Given the description of an element on the screen output the (x, y) to click on. 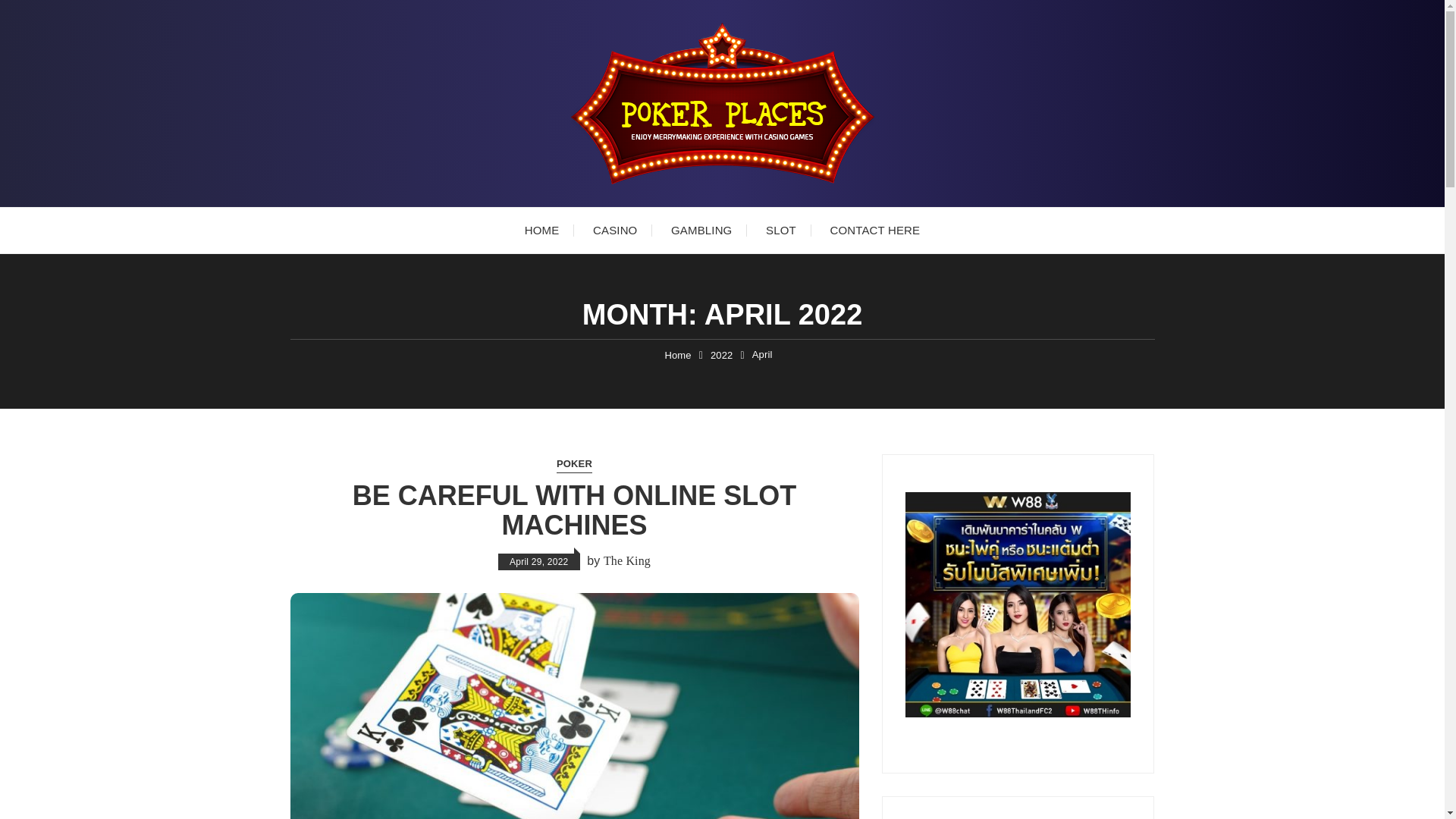
April 29, 2022 (538, 561)
April (762, 354)
GAMBLING (701, 230)
HOME (542, 230)
POKER (574, 464)
BE CAREFUL WITH ONLINE SLOT MACHINES (574, 510)
CONTACT HERE (873, 230)
The King (627, 561)
2022 (721, 355)
Home (676, 355)
SLOT (780, 230)
CASINO (615, 230)
